Given the description of an element on the screen output the (x, y) to click on. 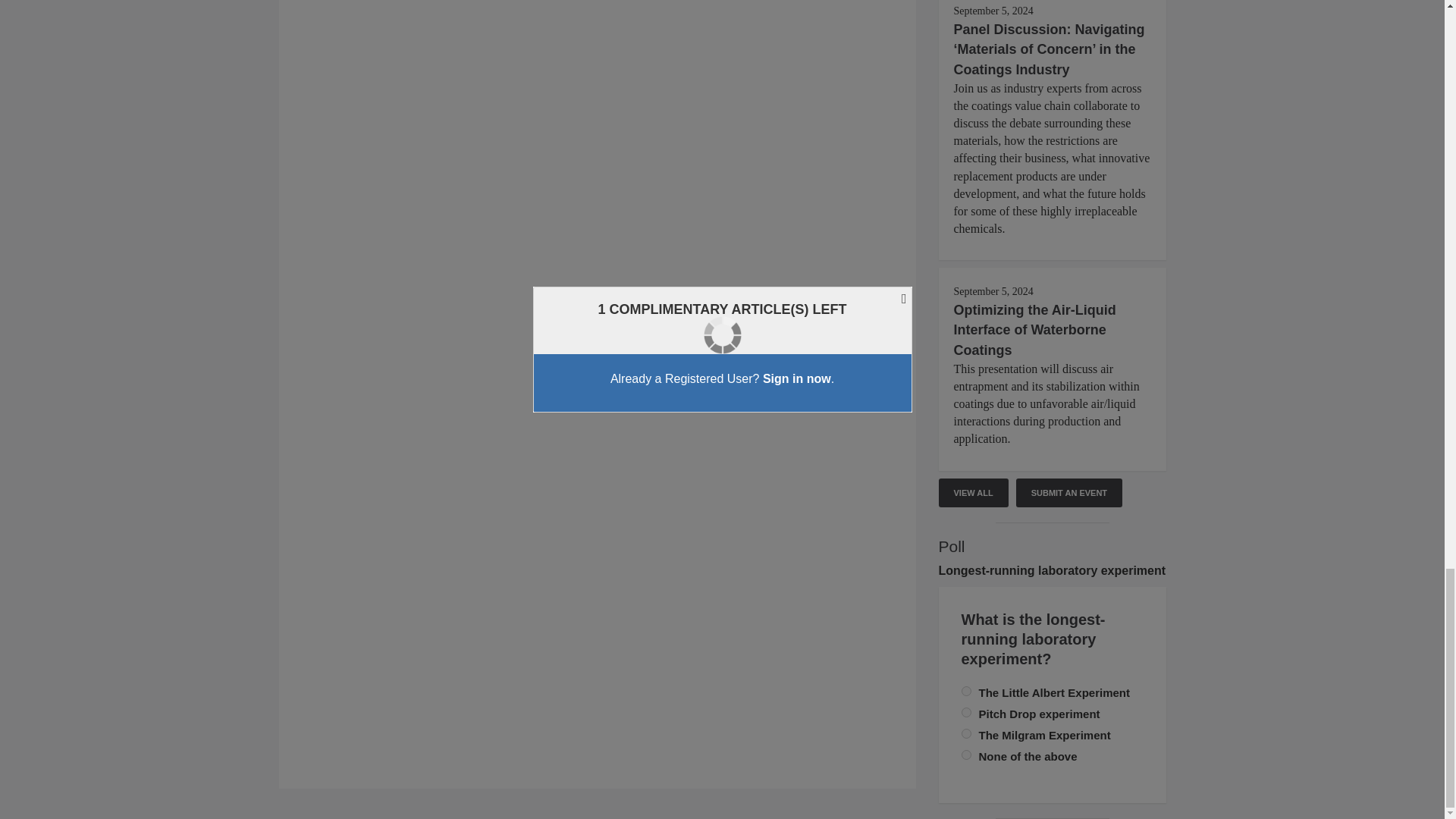
233 (965, 691)
231 (965, 755)
Optimizing the Air-Liquid Interface of Waterborne Coatings (1034, 329)
230 (965, 712)
232 (965, 733)
